Given the description of an element on the screen output the (x, y) to click on. 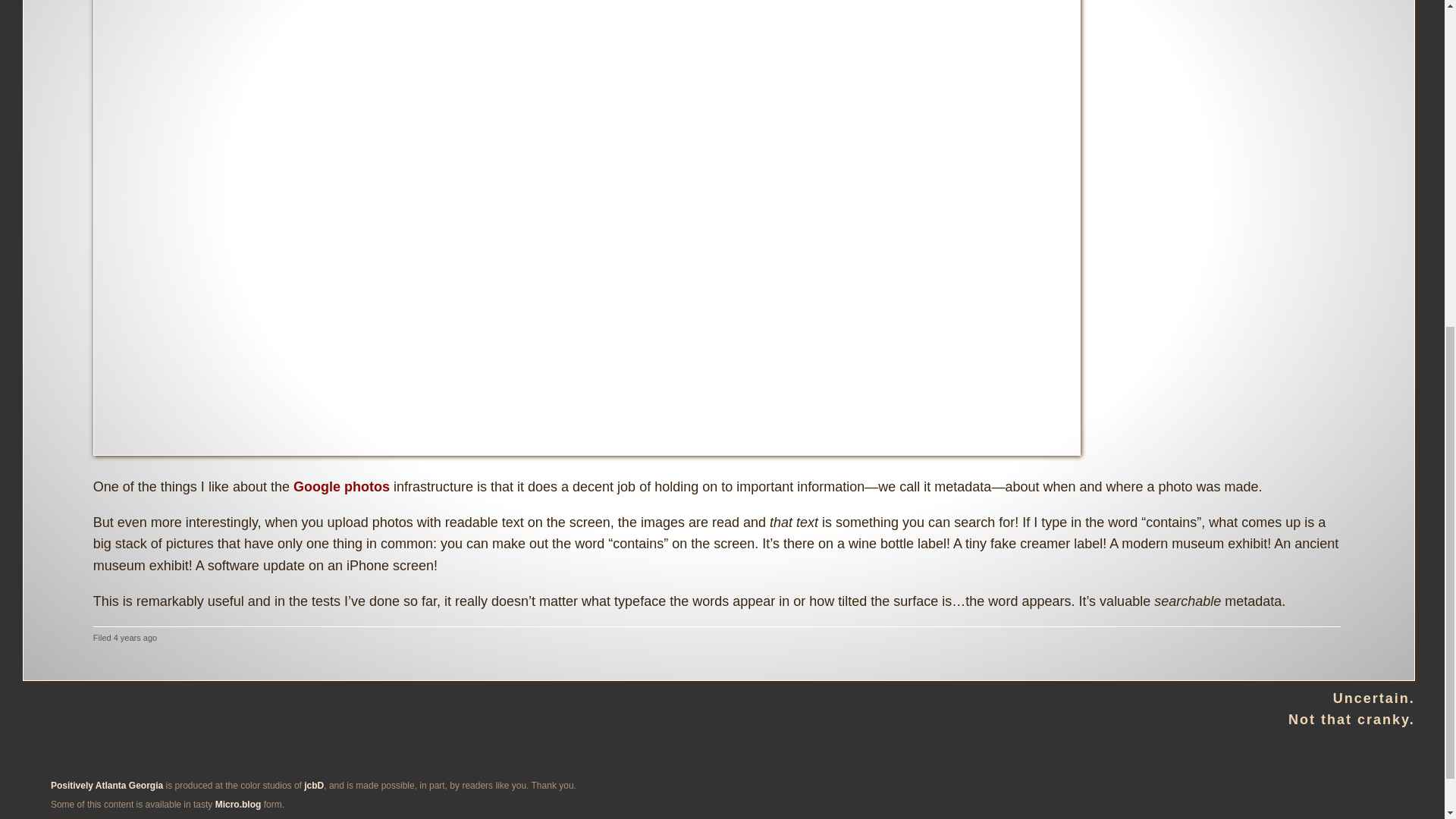
jcbD (313, 785)
Google photos (342, 486)
Micro.blog (238, 804)
